Given the description of an element on the screen output the (x, y) to click on. 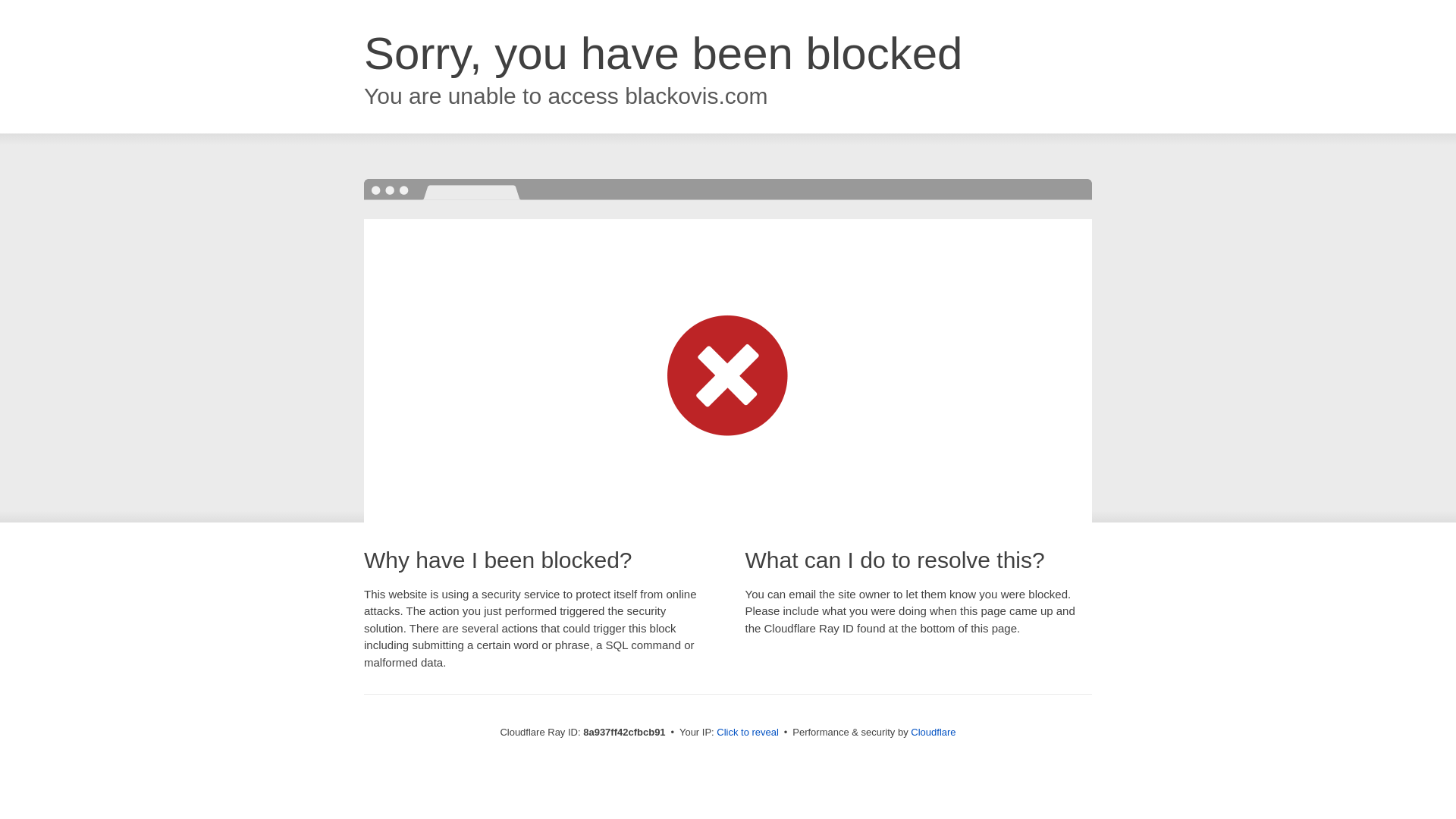
Cloudflare (933, 731)
Click to reveal (747, 732)
